Given the description of an element on the screen output the (x, y) to click on. 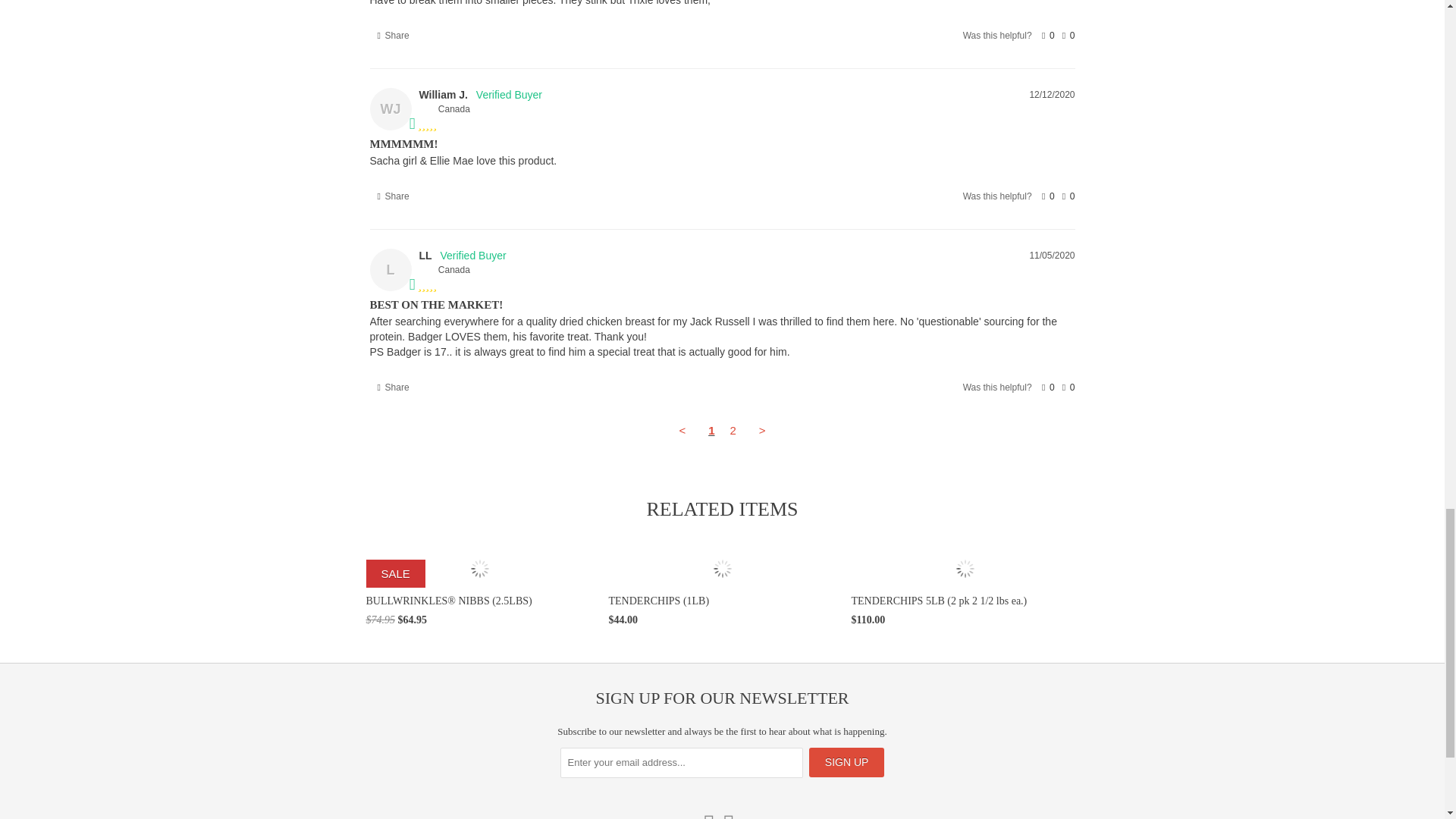
Sign Up (847, 762)
